Given the description of an element on the screen output the (x, y) to click on. 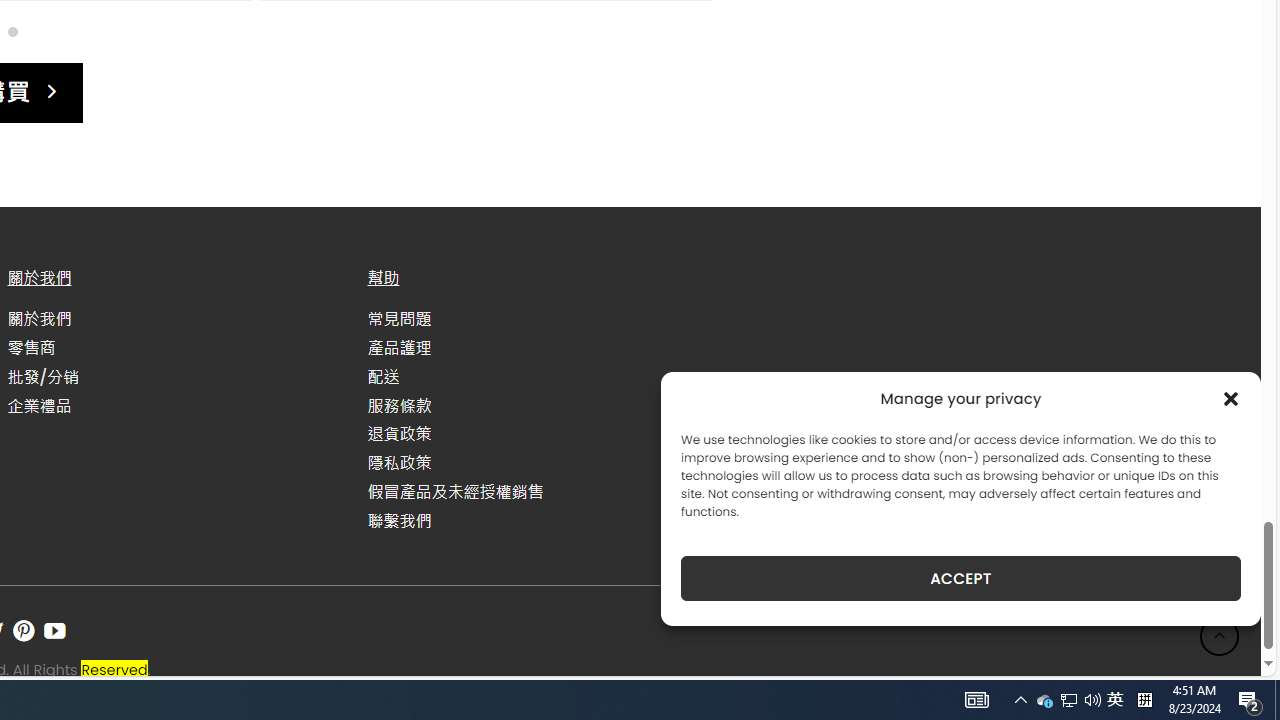
Class: cmplz-close (1231, 398)
Follow on YouTube (54, 631)
Go to top (1220, 636)
